Given the description of an element on the screen output the (x, y) to click on. 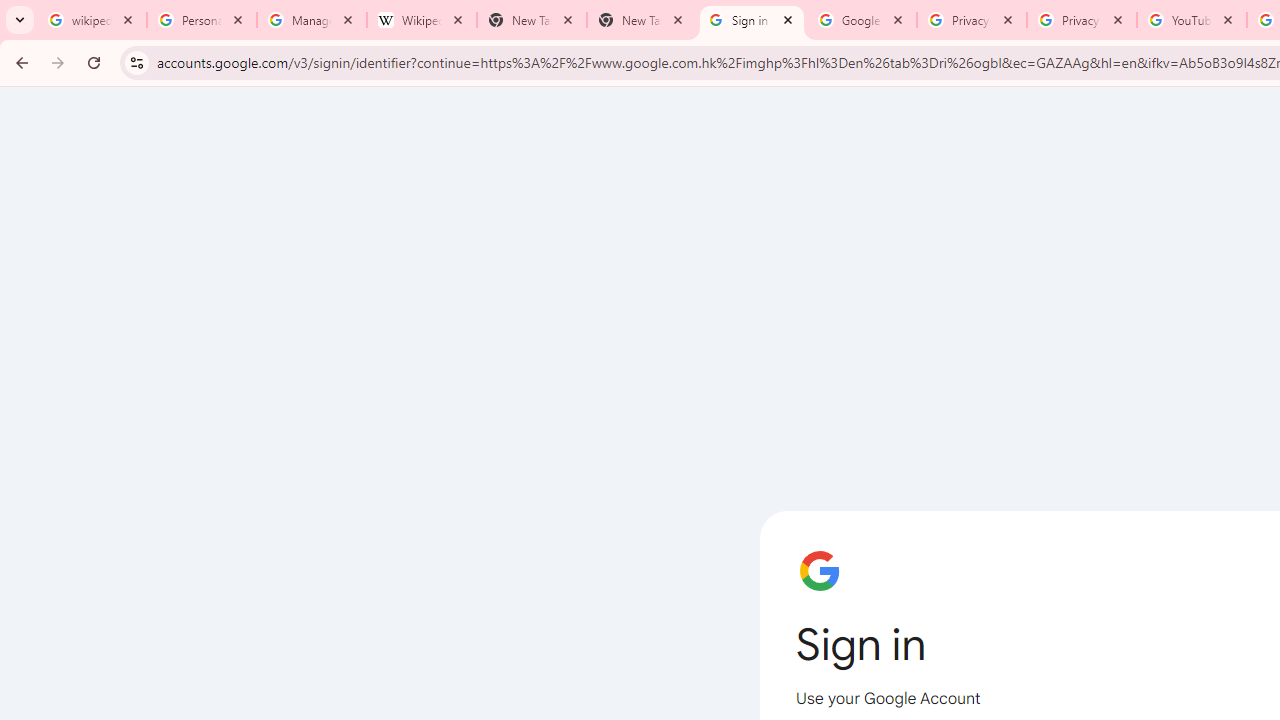
New Tab (642, 20)
